Given the description of an element on the screen output the (x, y) to click on. 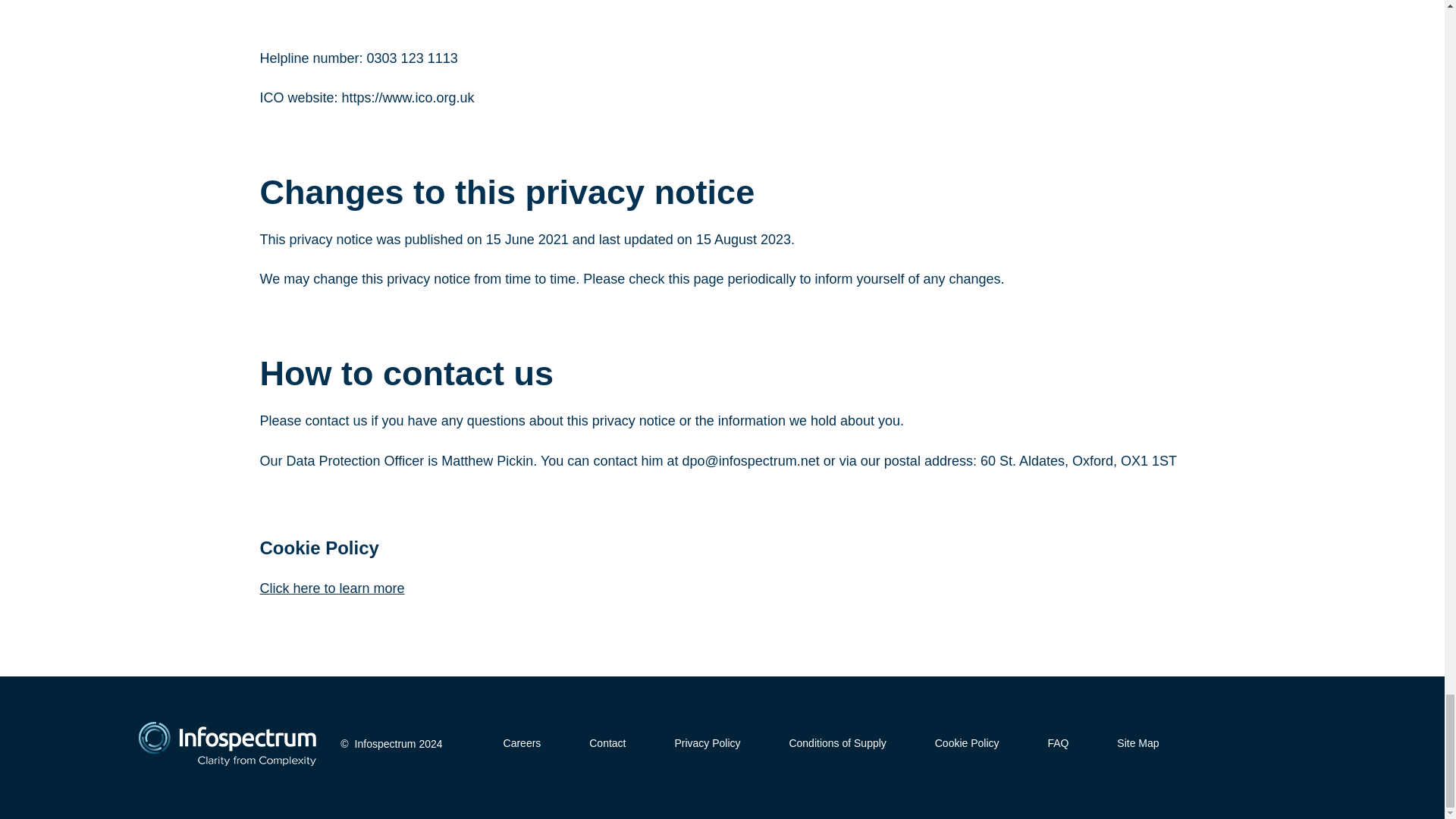
visit twitter page (1220, 743)
visit linkedin page (1247, 743)
go to homepage (226, 743)
FAQ (1057, 743)
Click here to learn more (331, 588)
Privacy Policy (706, 743)
Cookie Policy (966, 743)
Careers (522, 743)
Contact (607, 743)
Conditions of Supply (837, 743)
